Given the description of an element on the screen output the (x, y) to click on. 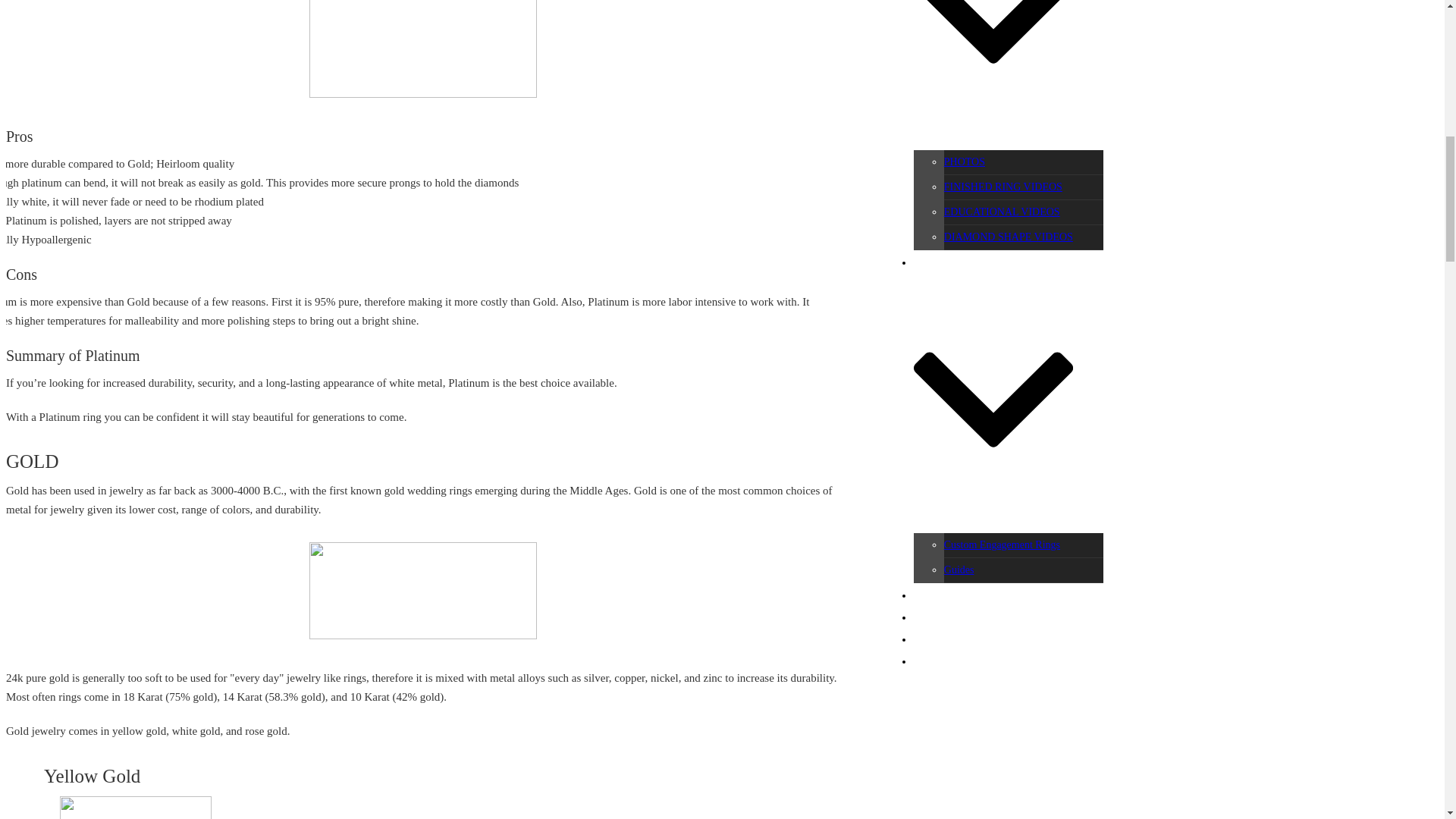
DIAMOND SHAPE VIDEOS (1008, 236)
REVIEWS (937, 639)
Custom Engagement Rings (1001, 544)
PHOTOS (964, 161)
GALLERY (993, 72)
HOW IT WORKS (952, 595)
Antique Engagement Ring (422, 48)
CONTACT (938, 661)
Guides (958, 569)
EDUCATIONAL VIDEOS (1001, 211)
